Given the description of an element on the screen output the (x, y) to click on. 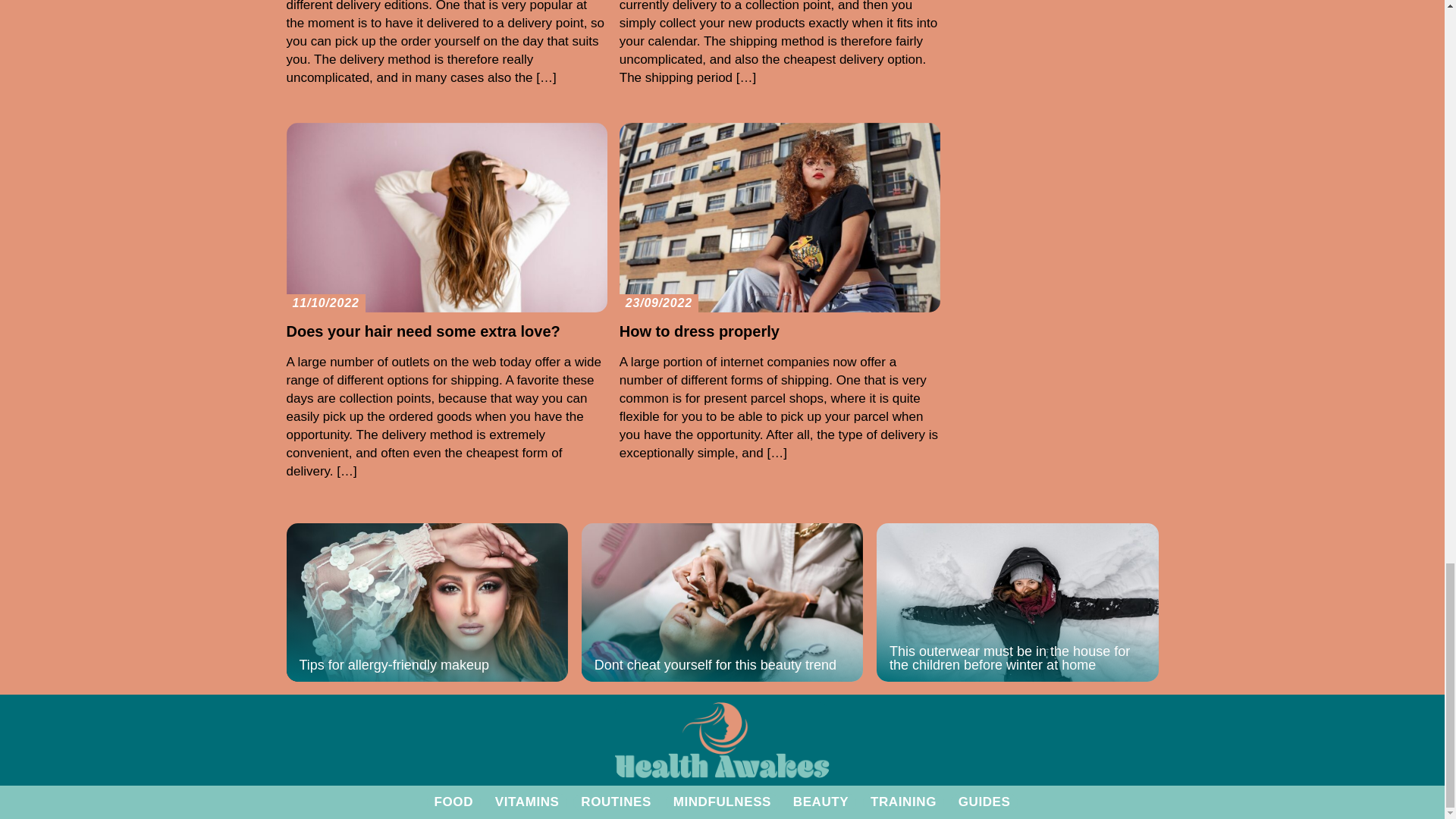
BEAUTY (820, 801)
FOOD (453, 801)
VITAMINS (527, 801)
TRAINING (903, 801)
MINDFULNESS (721, 801)
ROUTINES (615, 801)
Tips for allergy-friendly makeup (427, 602)
Dont cheat yourself for this beauty trend (721, 602)
